Given the description of an element on the screen output the (x, y) to click on. 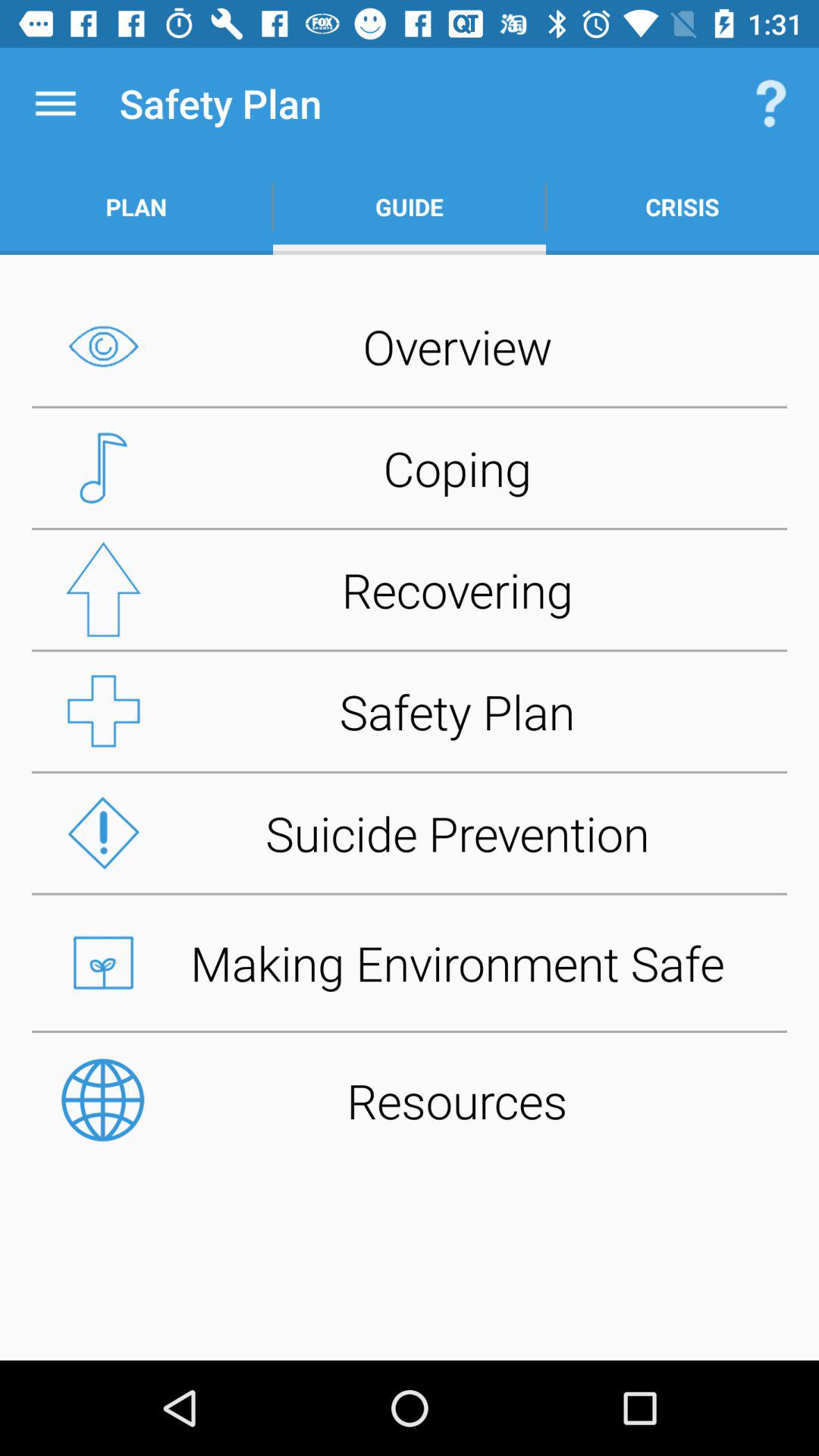
choose recovering (409, 589)
